Given the description of an element on the screen output the (x, y) to click on. 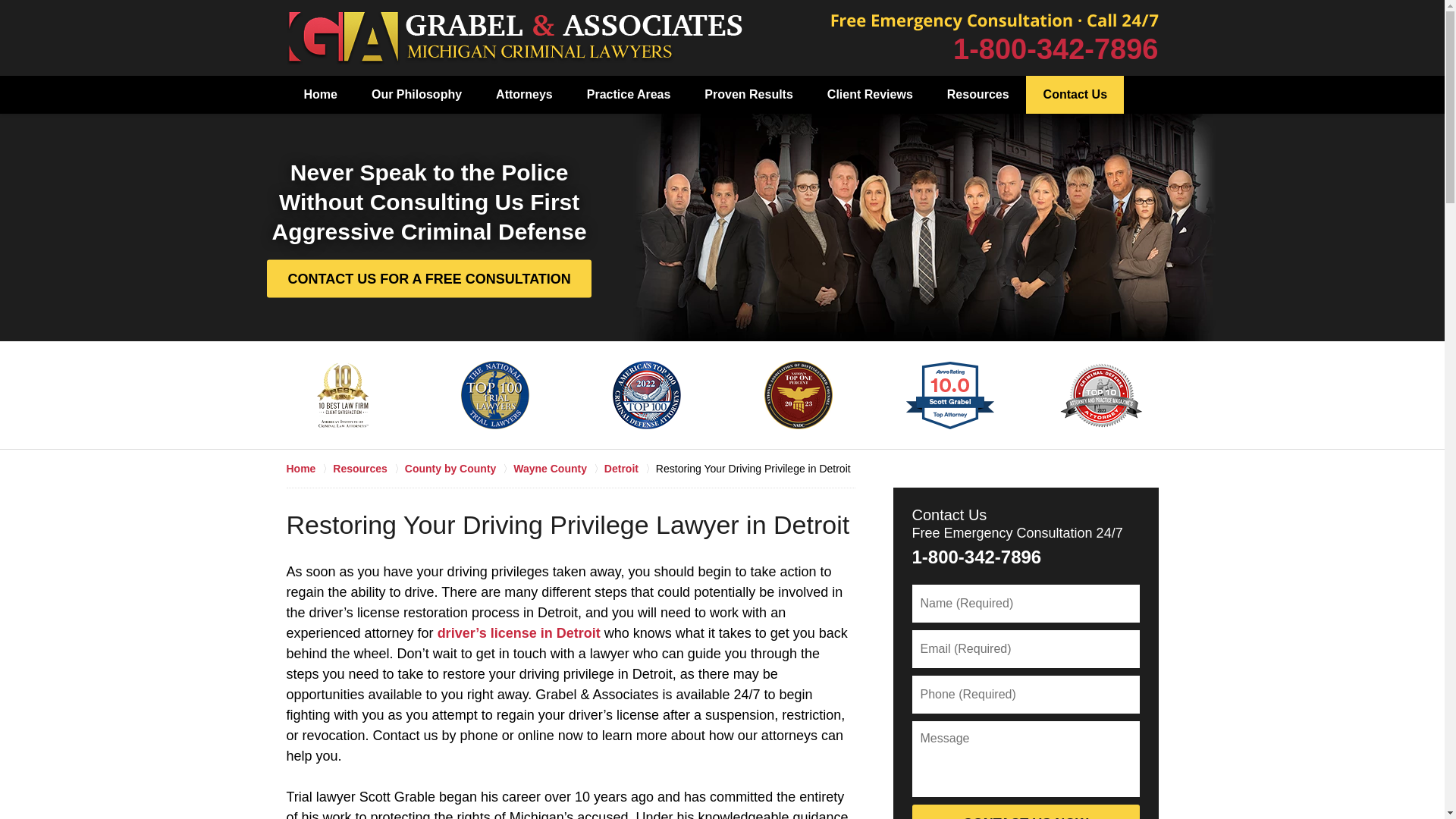
Contact Us (1075, 94)
Back to Home (514, 37)
Home (319, 94)
Practice Areas (628, 94)
1-800-342-7896 (1055, 49)
Resources (978, 94)
Client Reviews (869, 94)
CONTACT US FOR A FREE CONSULTATION (428, 278)
Our Philosophy (416, 94)
Attorneys (524, 94)
Proven Results (748, 94)
